Given the description of an element on the screen output the (x, y) to click on. 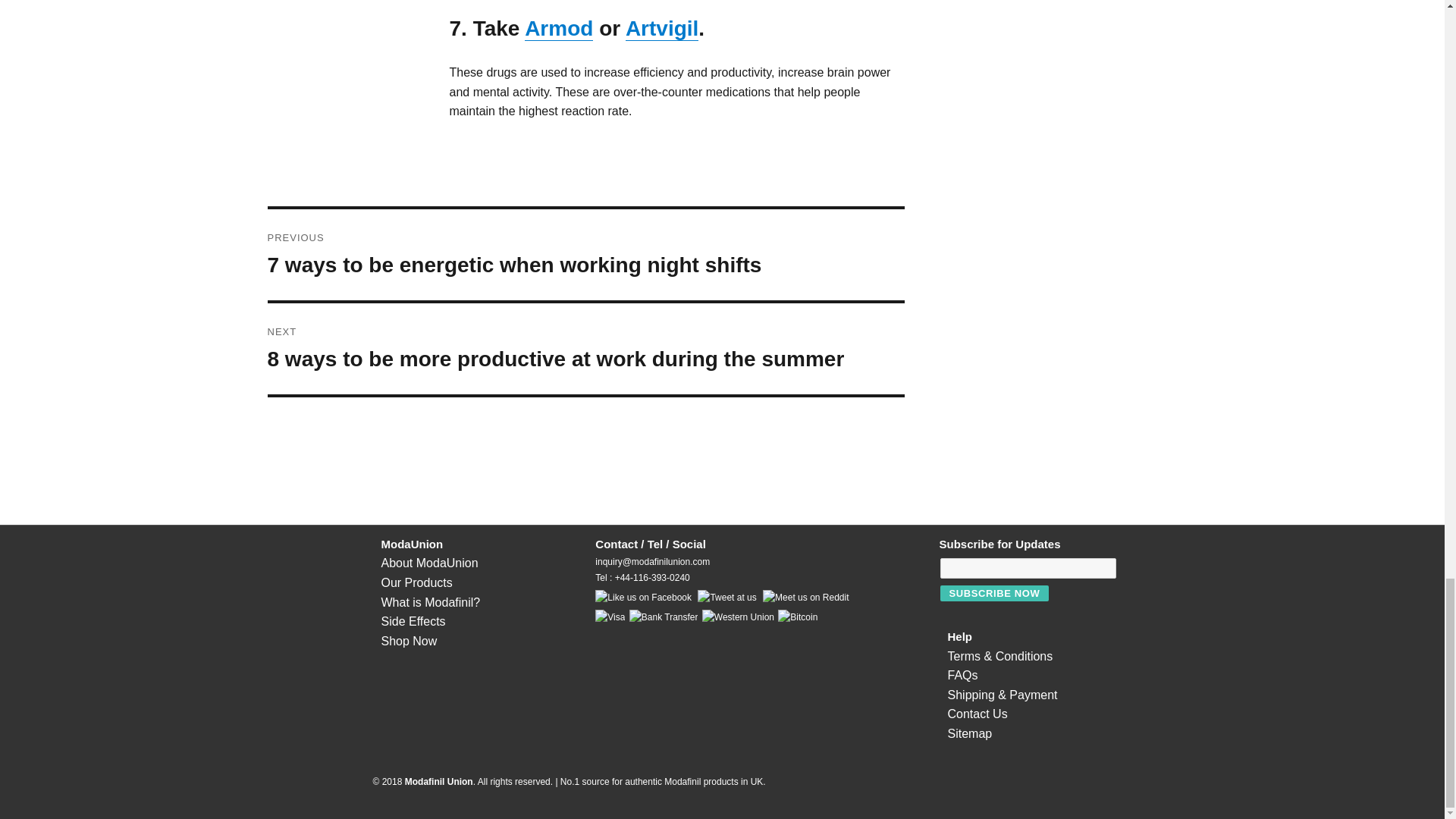
About Modafinil (430, 602)
Artvigil (662, 28)
Like us on Facebook (643, 597)
Tweet at us (726, 597)
Buy Modafinil Online (408, 640)
Modafinil and Armodafinil Products (415, 582)
Subscribe Now (994, 593)
About Modafinil Union (428, 562)
